Given the description of an element on the screen output the (x, y) to click on. 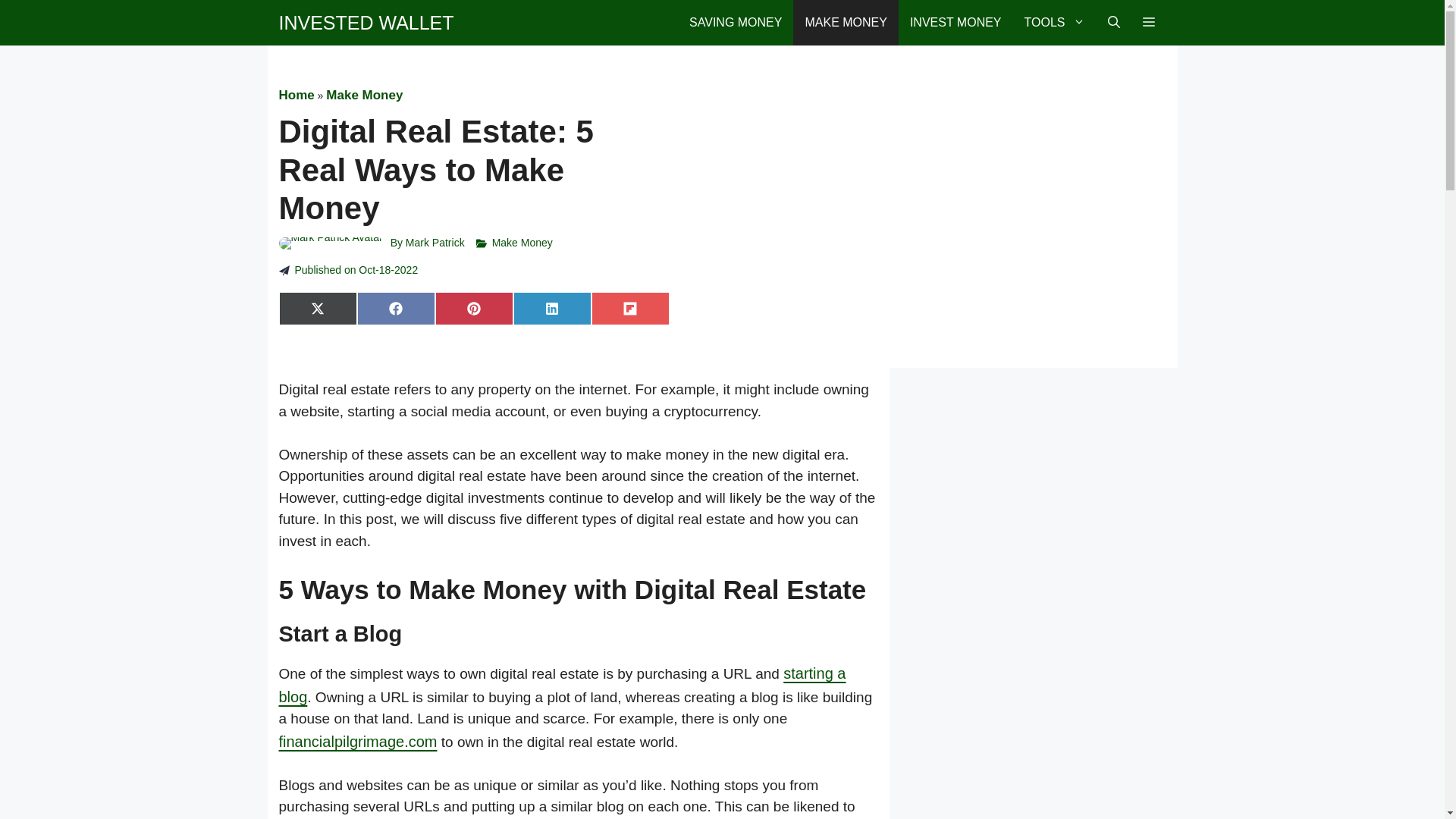
Share on LinkedIn (552, 308)
Mark Patrick (435, 242)
Home (296, 94)
Make Money (522, 242)
SAVING MONEY (735, 22)
Share on Facebook (395, 308)
MAKE MONEY (845, 22)
Share on Flip it (630, 308)
financialpilgrimage.com (358, 741)
Make Money (364, 94)
